Given the description of an element on the screen output the (x, y) to click on. 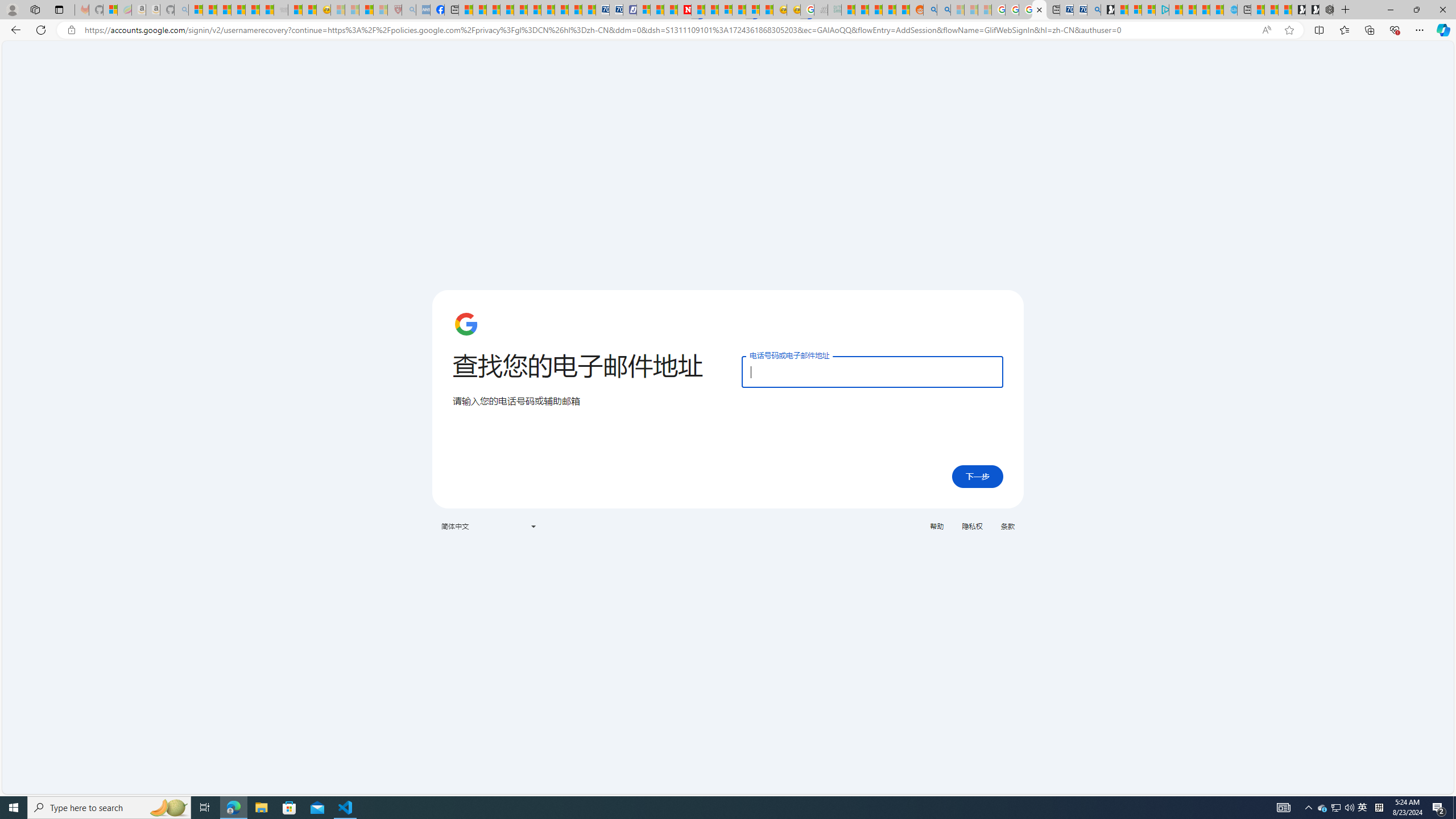
DITOGAMES AG Imprint - Sleeping (833, 9)
Stocks - MSN (266, 9)
